Given the description of an element on the screen output the (x, y) to click on. 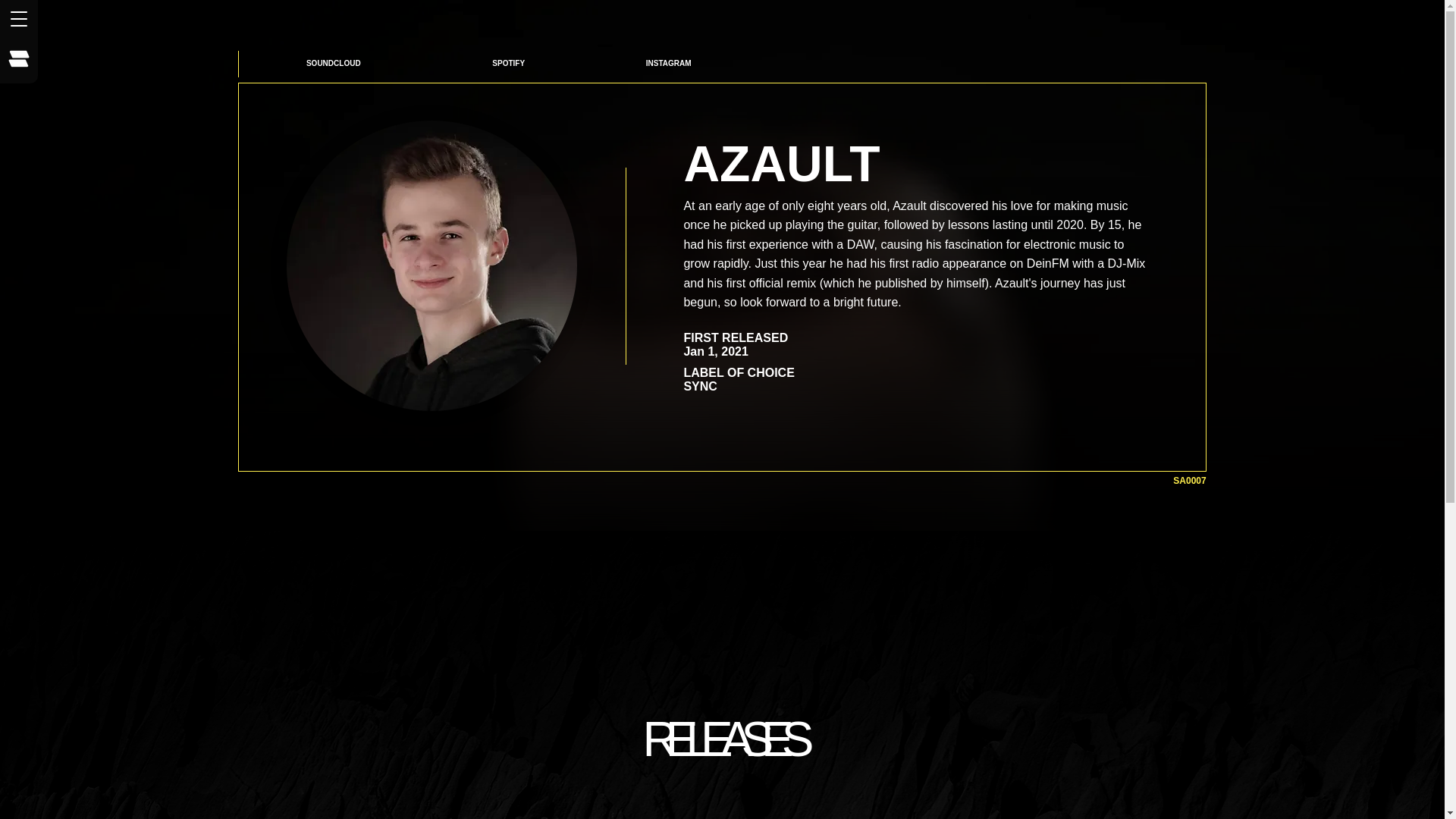
SPOTIFY (508, 63)
SOUNDCLOUD (333, 63)
INSTAGRAM (668, 63)
